Given the description of an element on the screen output the (x, y) to click on. 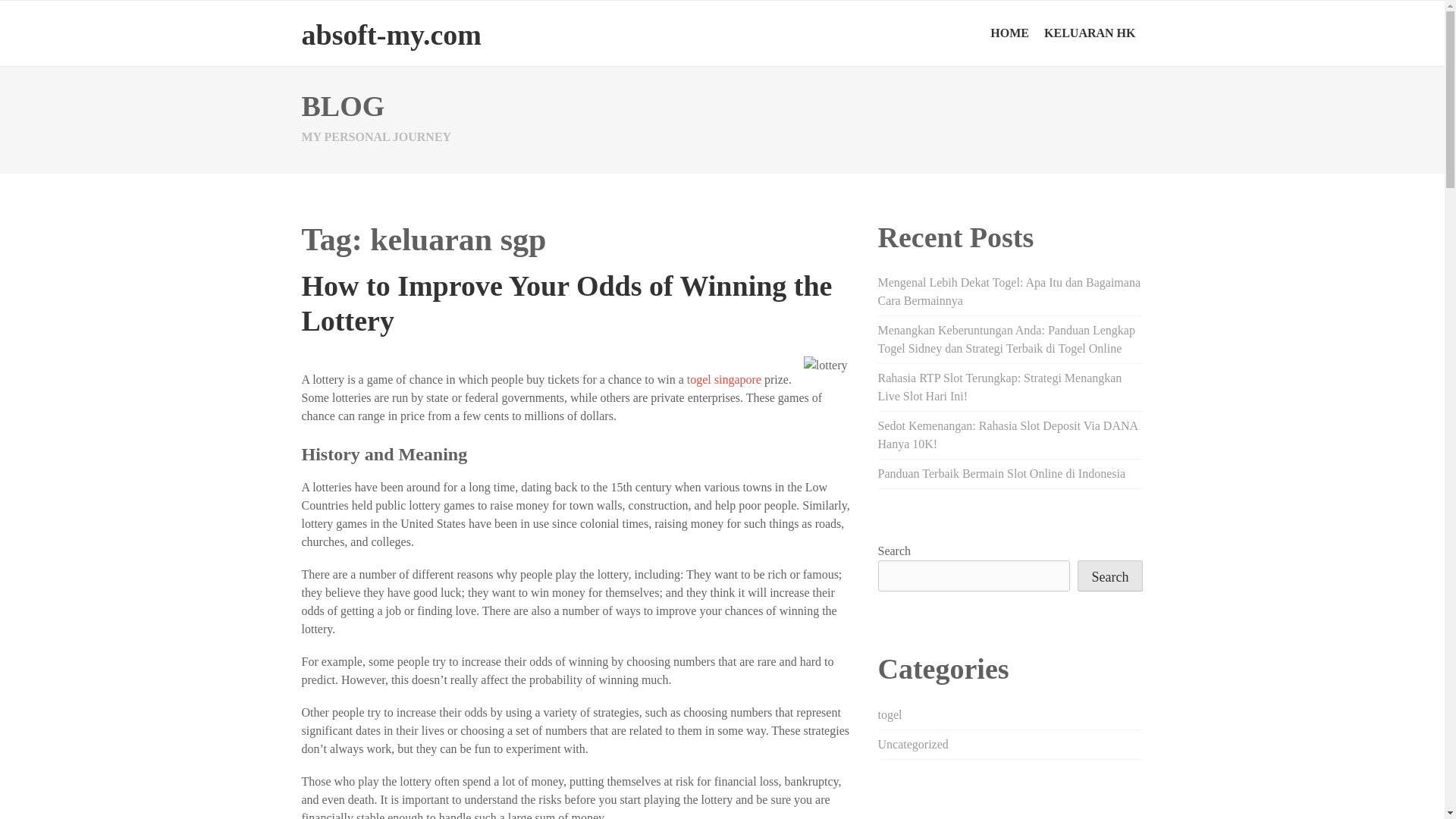
Uncategorized (913, 744)
togel singapore (724, 379)
HOME (1009, 33)
How to Improve Your Odds of Winning the Lottery (566, 303)
Sedot Kemenangan: Rahasia Slot Deposit Via DANA Hanya 10K! (1007, 434)
Search (1109, 575)
absoft-my.com (391, 34)
KELUARAN HK (1089, 33)
